Given the description of an element on the screen output the (x, y) to click on. 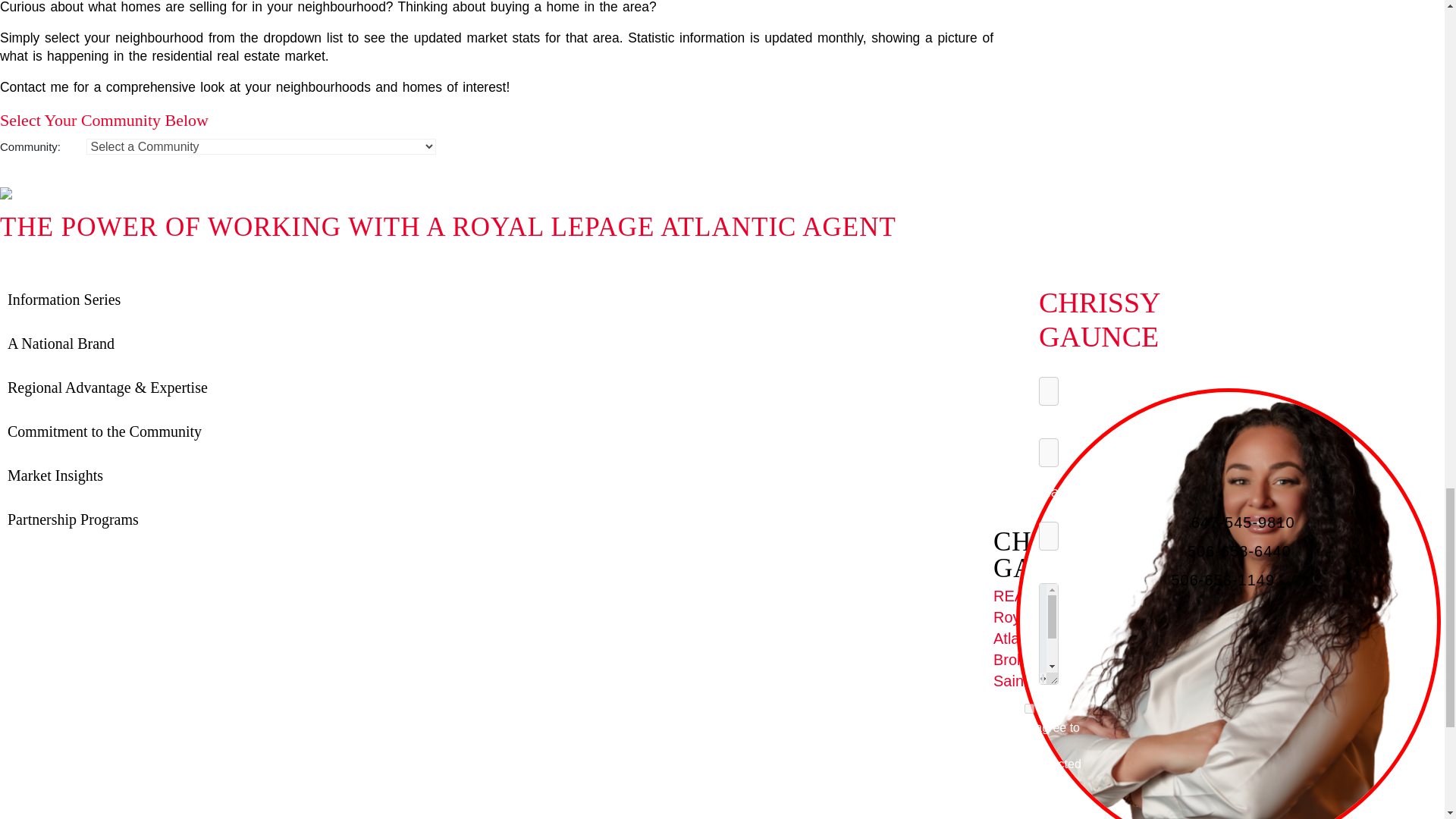
yes (1029, 708)
Royal LePgae Atantic - Go Beyond (1232, 694)
